Given the description of an element on the screen output the (x, y) to click on. 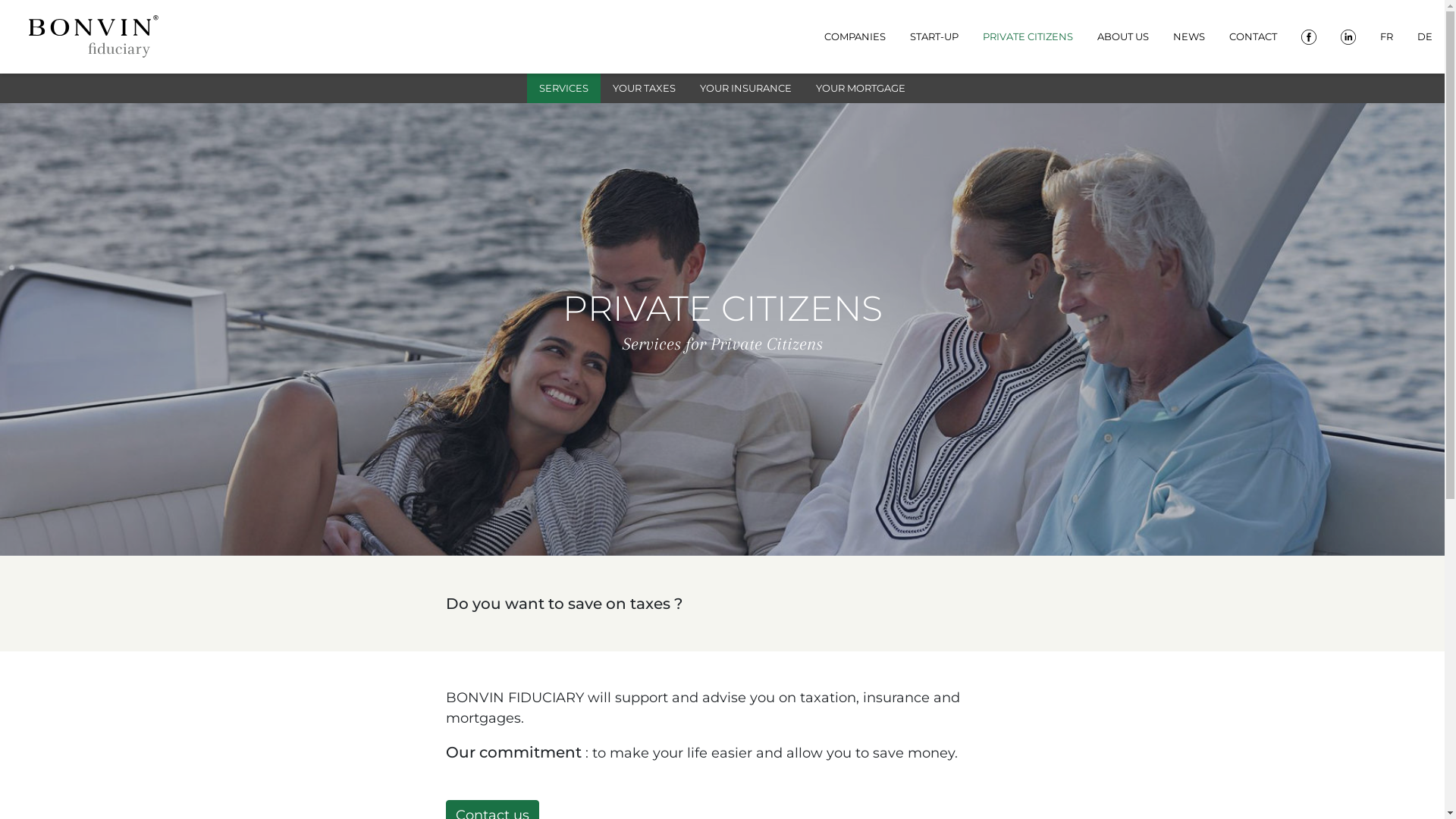
COMPANIES Element type: text (854, 36)
YOUR TAXES Element type: text (643, 88)
CONTACT Element type: text (1253, 36)
YOUR MORTGAGE Element type: text (860, 88)
DE Element type: text (1424, 36)
YOUR INSURANCE Element type: text (745, 88)
NEWS Element type: text (1189, 36)
START-UP Element type: text (933, 36)
ABOUT US Element type: text (1123, 36)
FR Element type: text (1386, 36)
